Given the description of an element on the screen output the (x, y) to click on. 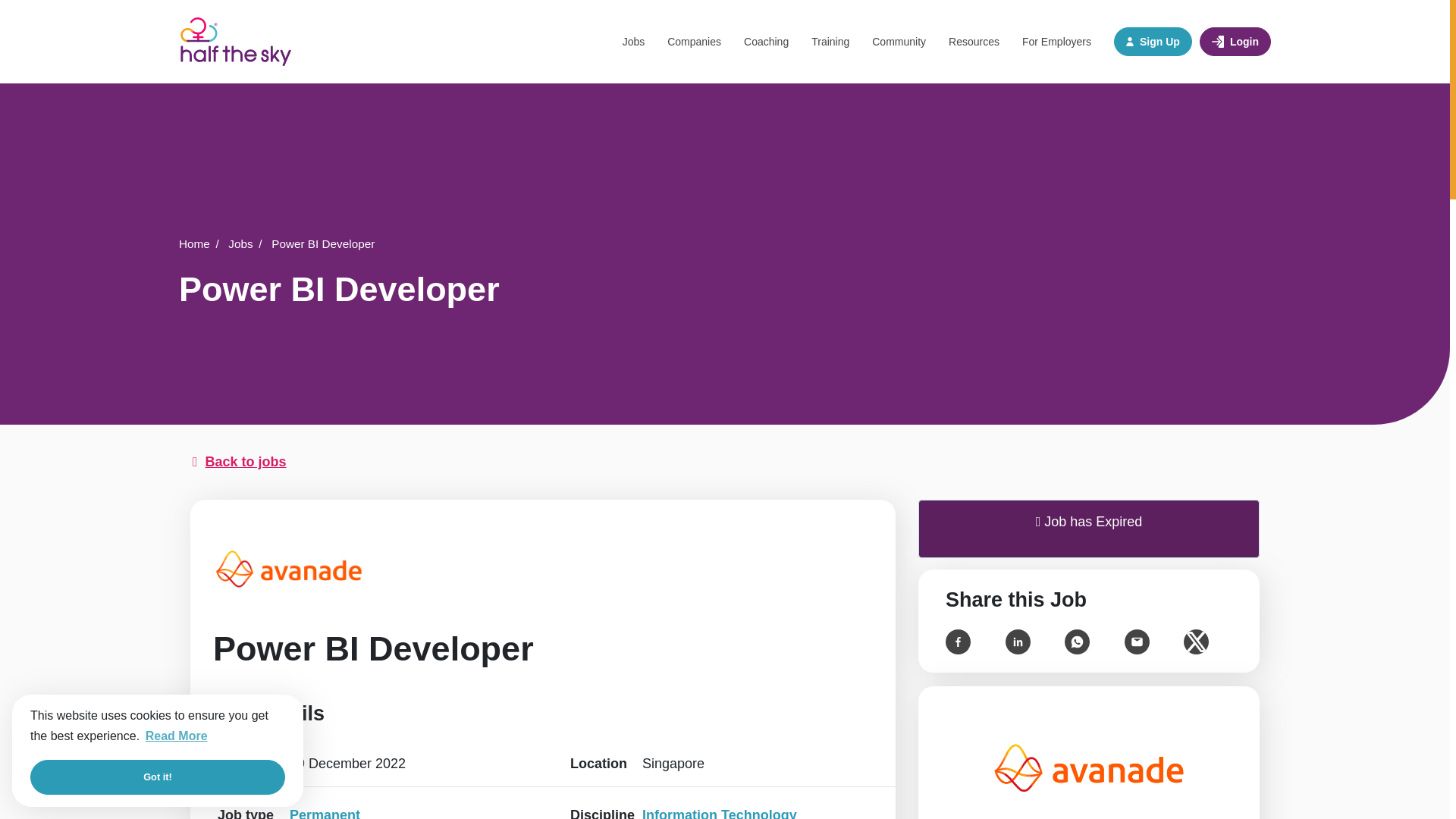
Training (829, 41)
For Employers (1050, 41)
Jobs (639, 41)
Read More (175, 735)
Community (898, 41)
share on Facebook (957, 640)
Permanent (324, 812)
Go to the Homepage (235, 41)
Tweet this (1195, 640)
send in Whatsapp (1076, 640)
share on LinkedIn (1018, 640)
Sign Up (1152, 41)
Got it! (157, 777)
Back to jobs (724, 462)
Jobs (247, 243)
